Given the description of an element on the screen output the (x, y) to click on. 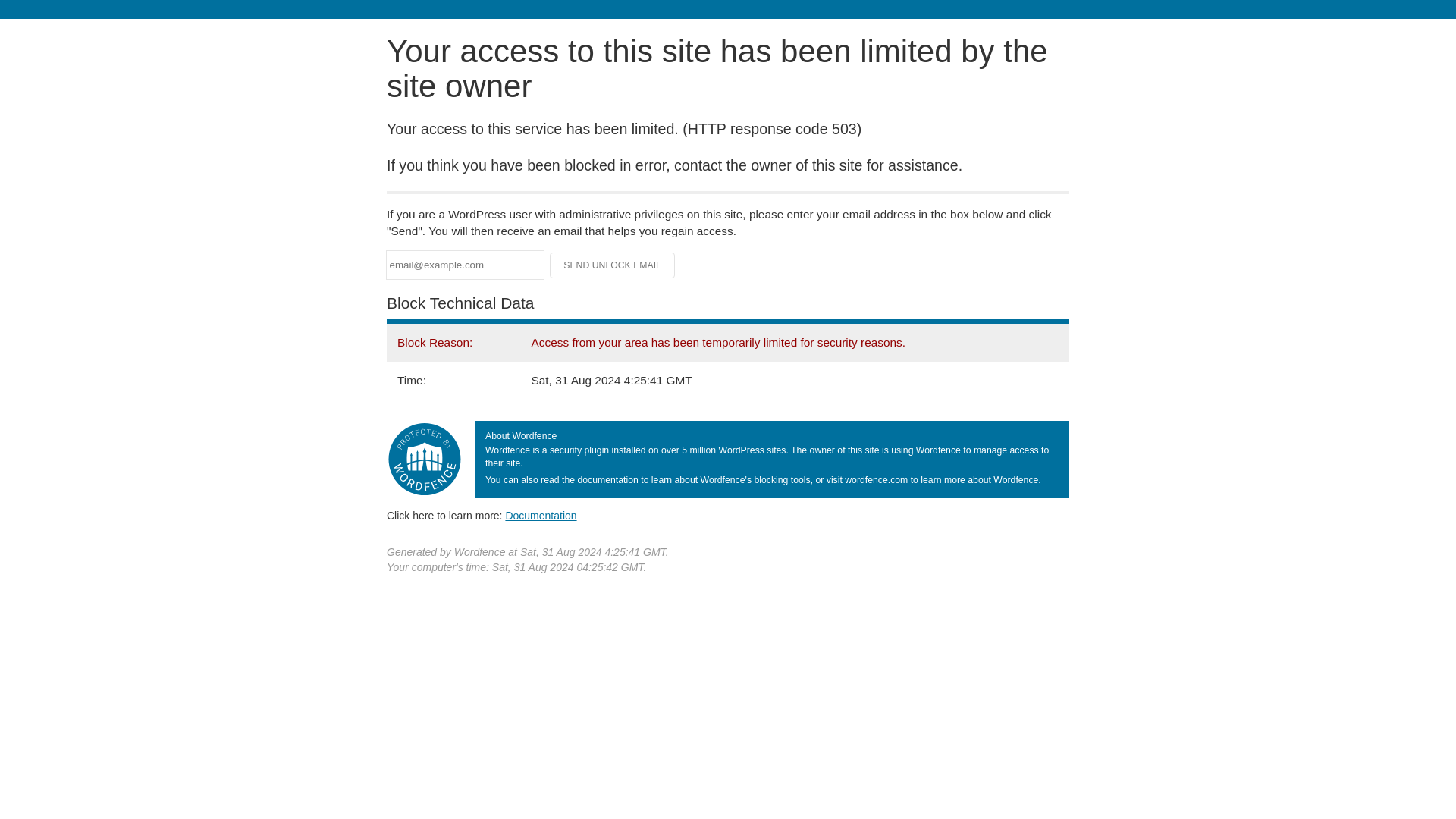
Send Unlock Email (612, 265)
Send Unlock Email (612, 265)
Documentation (540, 515)
